Given the description of an element on the screen output the (x, y) to click on. 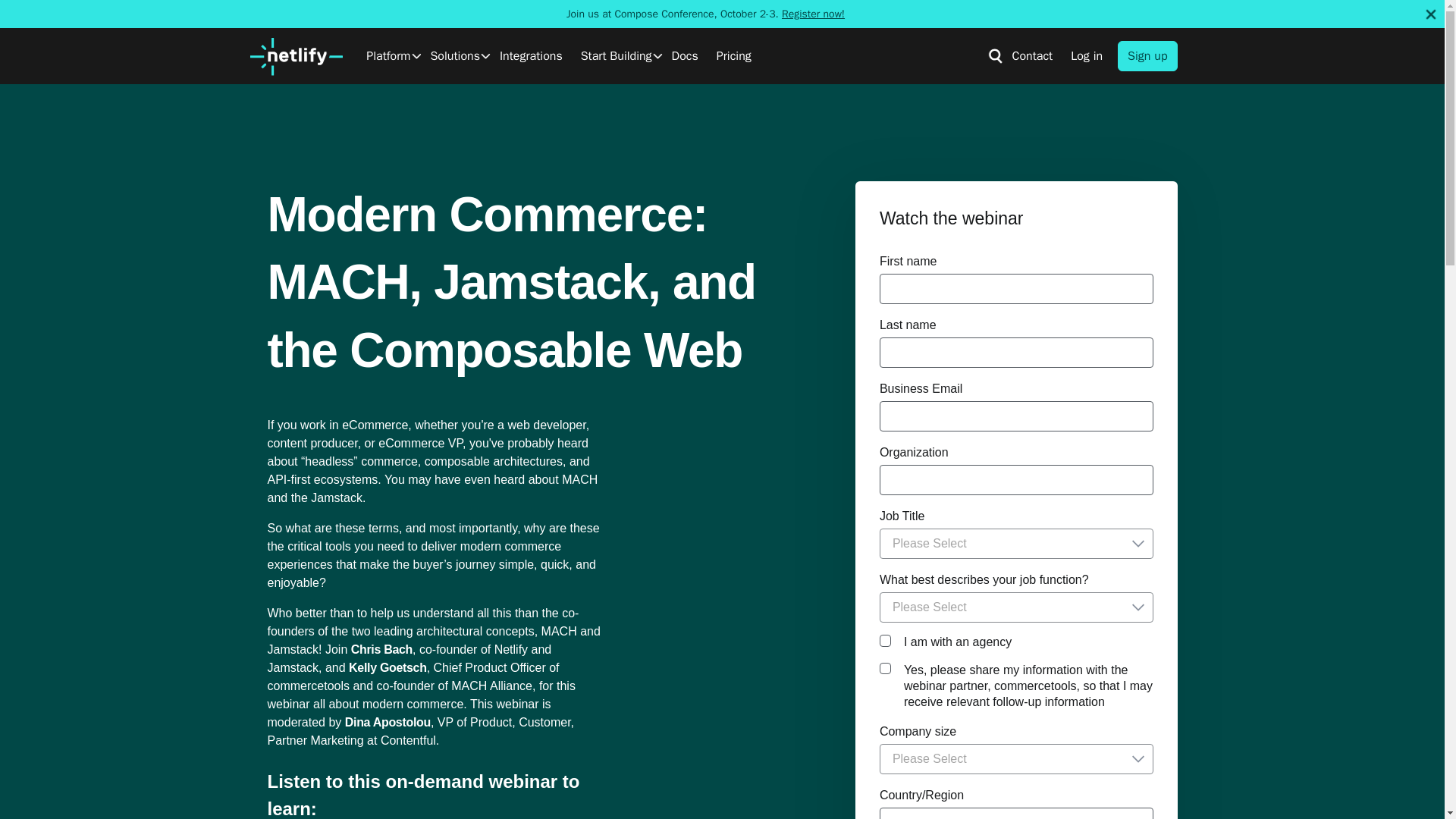
on (885, 668)
Integrations (531, 55)
on (885, 640)
Register now! (812, 13)
Close announcement bar (1430, 13)
Go to homepage (296, 56)
